Given the description of an element on the screen output the (x, y) to click on. 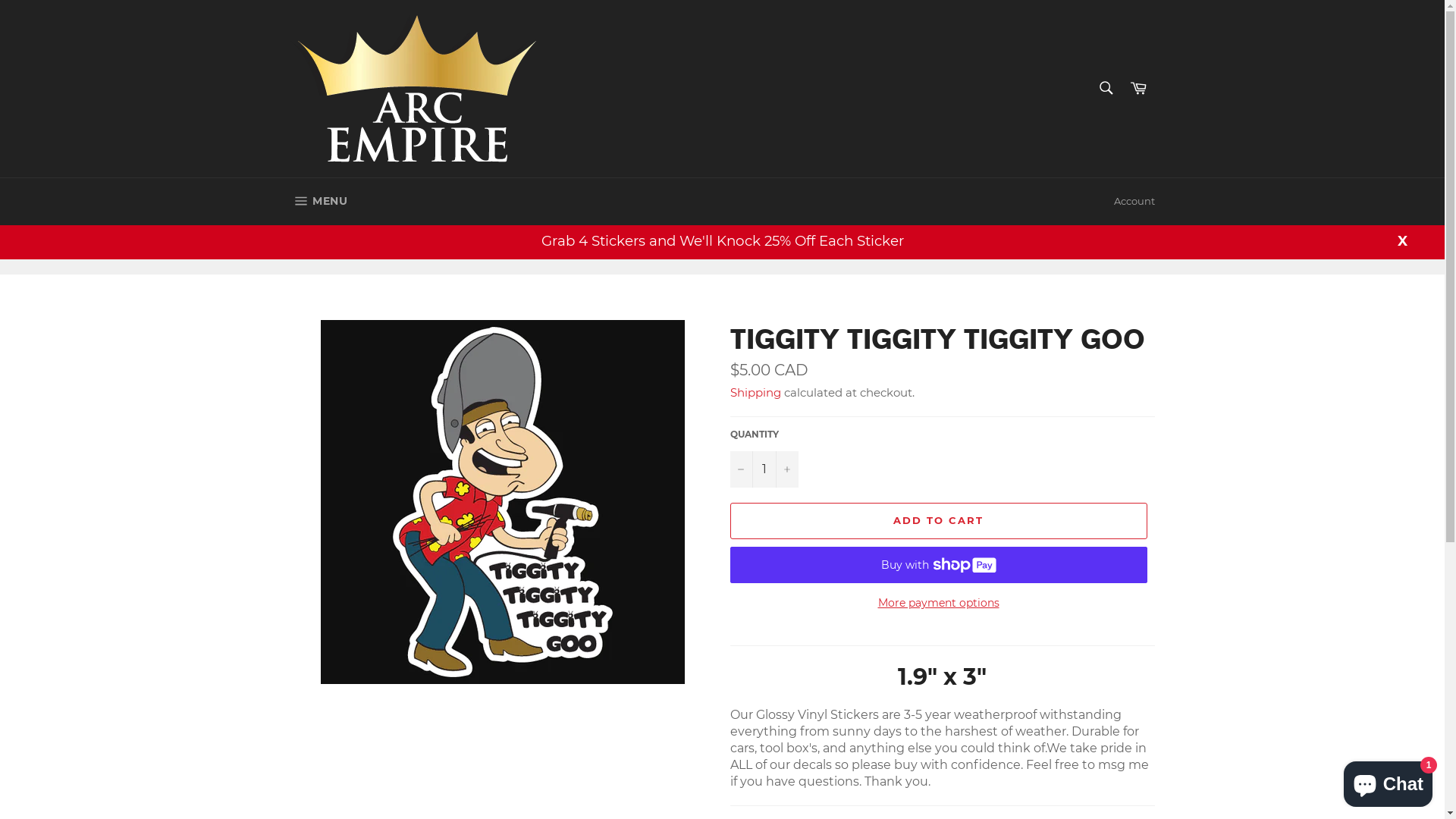
+ Element type: text (786, 469)
MENU
SITE NAVIGATION Element type: text (318, 201)
Search Element type: text (1105, 87)
Account Element type: text (1133, 201)
Shopify online store chat Element type: hover (1388, 780)
More payment options Element type: text (937, 603)
Shipping Element type: text (754, 392)
ADD TO CART Element type: text (937, 520)
Cart Element type: text (1138, 88)
